Given the description of an element on the screen output the (x, y) to click on. 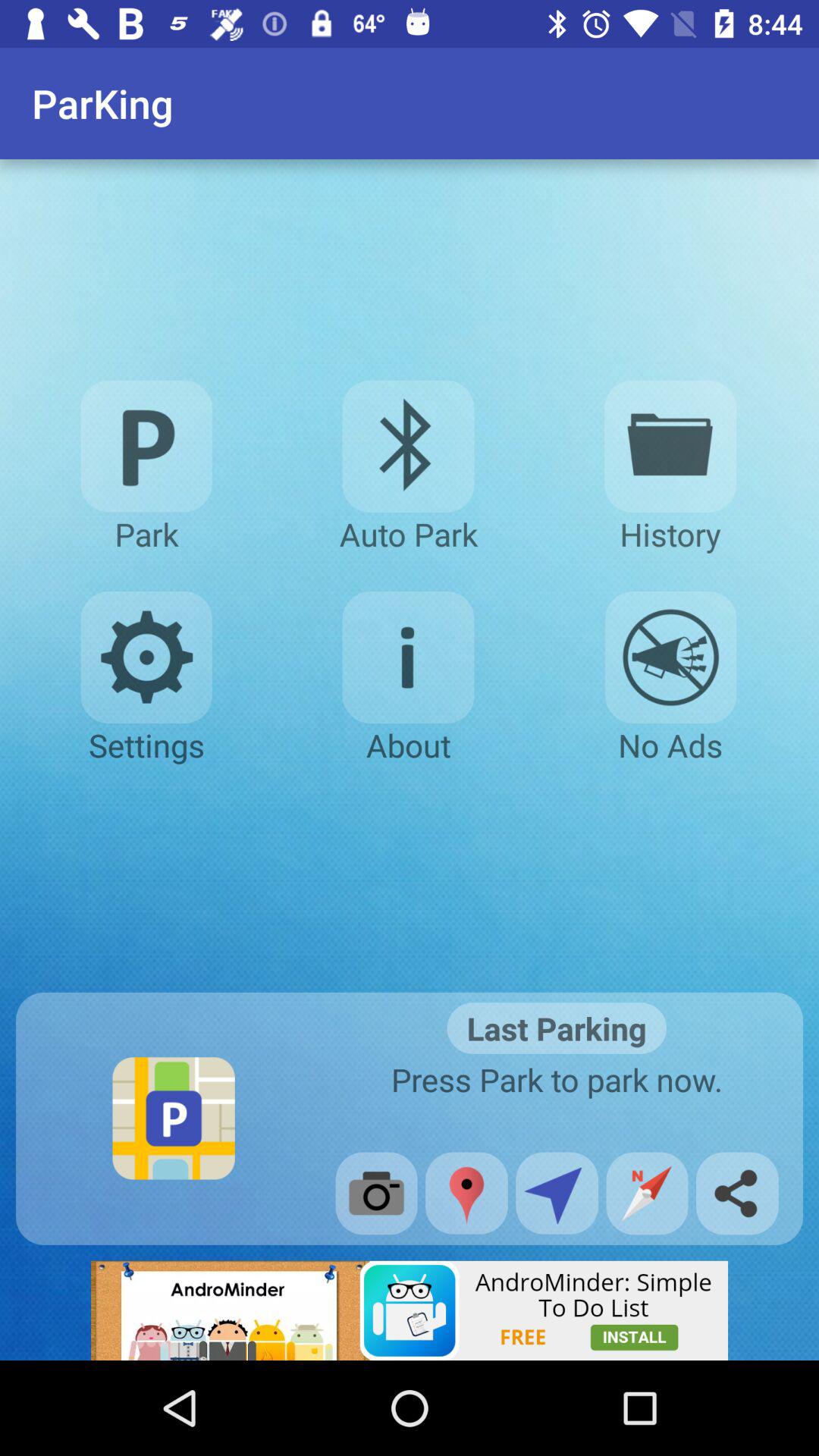
sending (556, 1193)
